Given the description of an element on the screen output the (x, y) to click on. 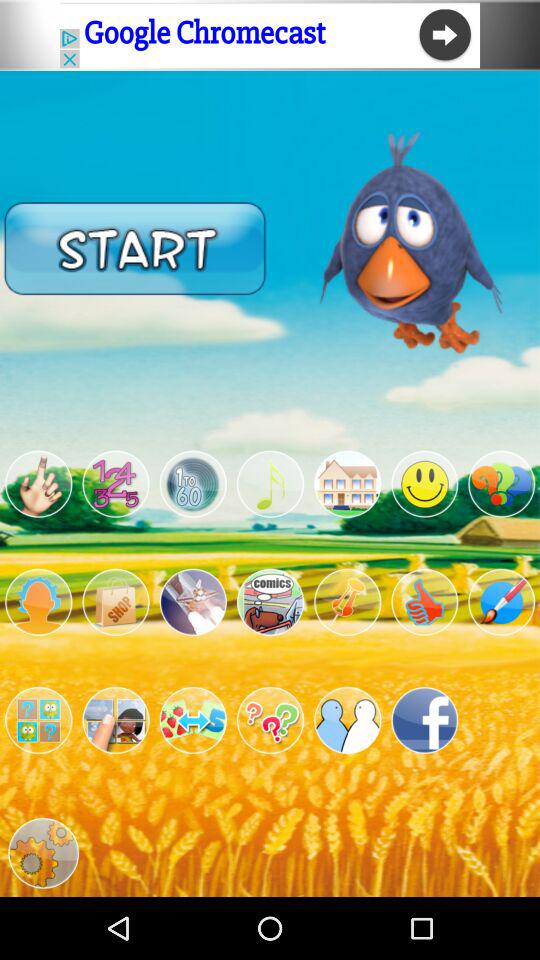
game (347, 602)
